Given the description of an element on the screen output the (x, y) to click on. 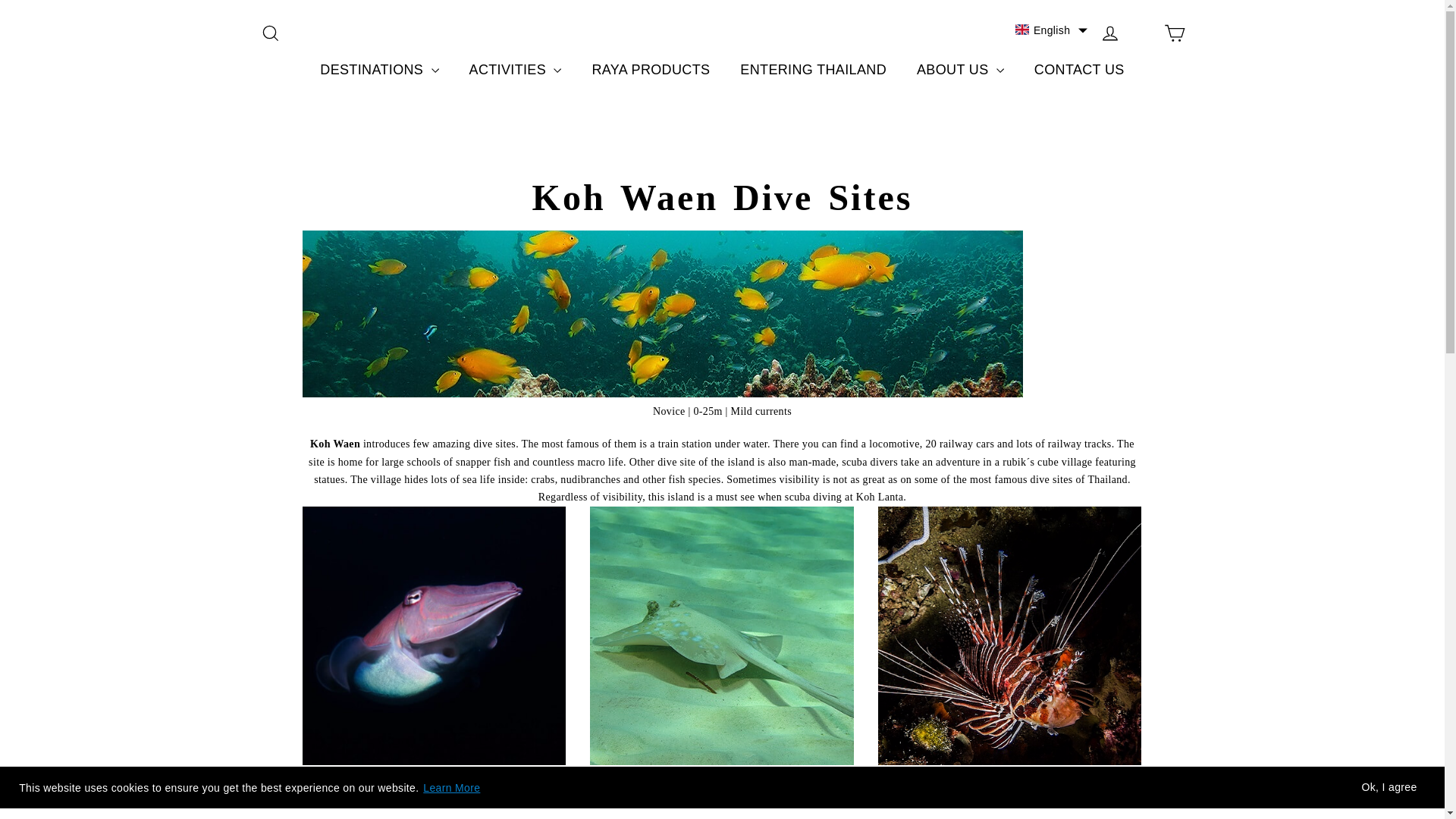
Search (269, 33)
Log in (1109, 33)
